Given the description of an element on the screen output the (x, y) to click on. 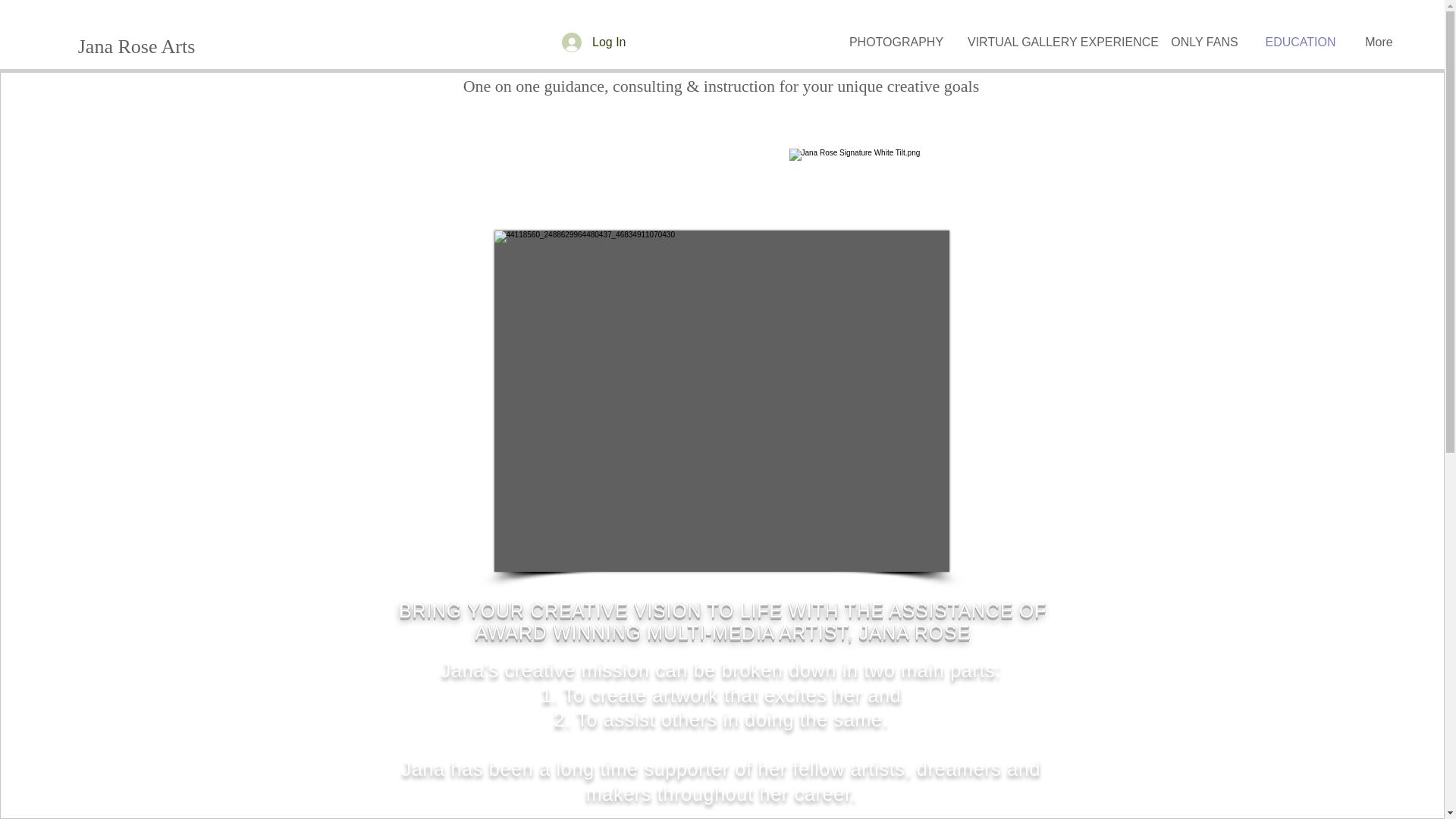
PHOTOGRAPHY (895, 42)
VIRTUAL GALLERY EXPERIENCE (1056, 42)
Log In (593, 41)
EDUCATION (1299, 42)
ONLY FANS (1203, 42)
Jana Rose Arts (136, 46)
